Given the description of an element on the screen output the (x, y) to click on. 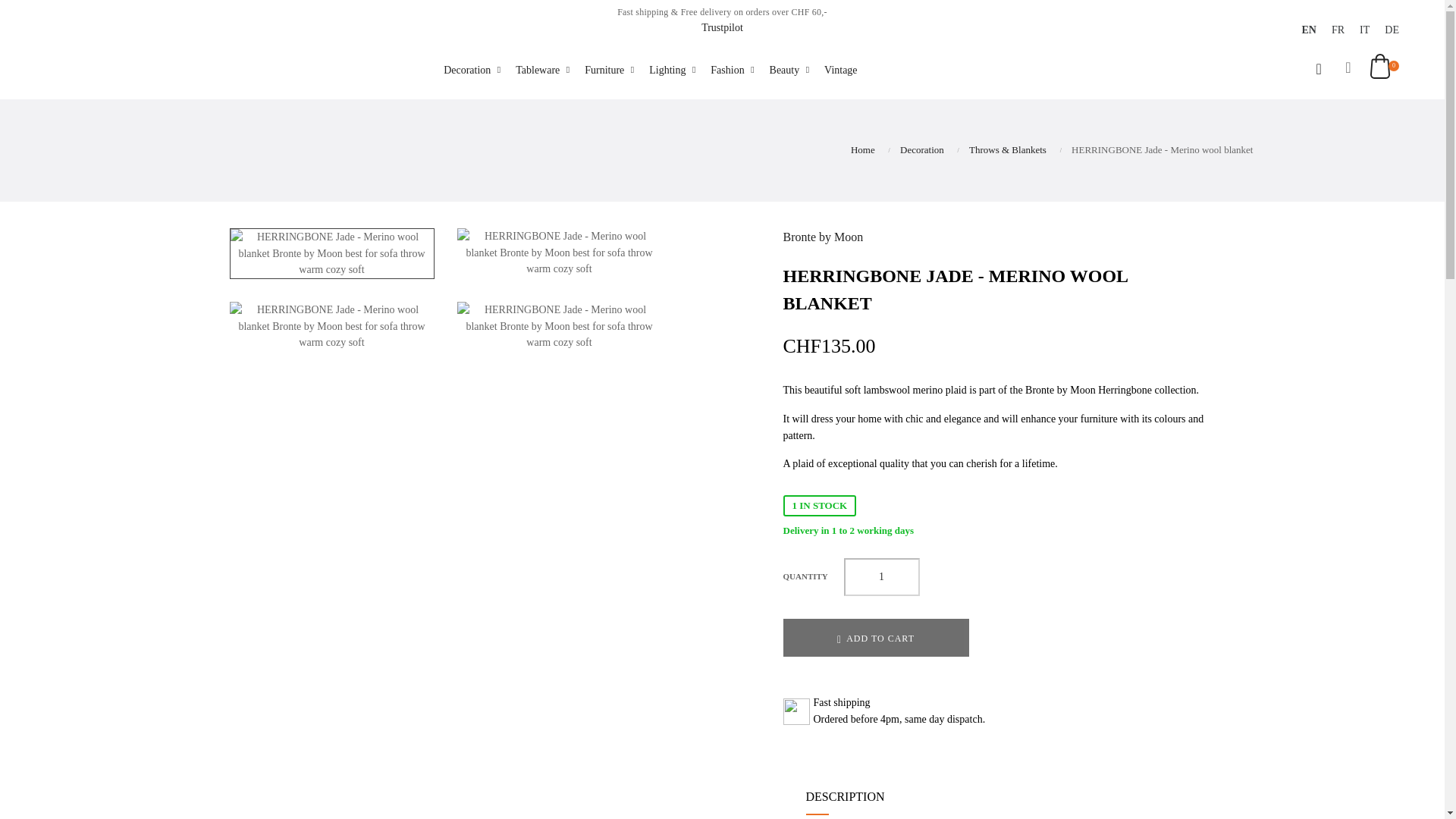
Decoration (472, 70)
1 (880, 576)
Tableware (542, 70)
Trustpilot (721, 27)
